Given the description of an element on the screen output the (x, y) to click on. 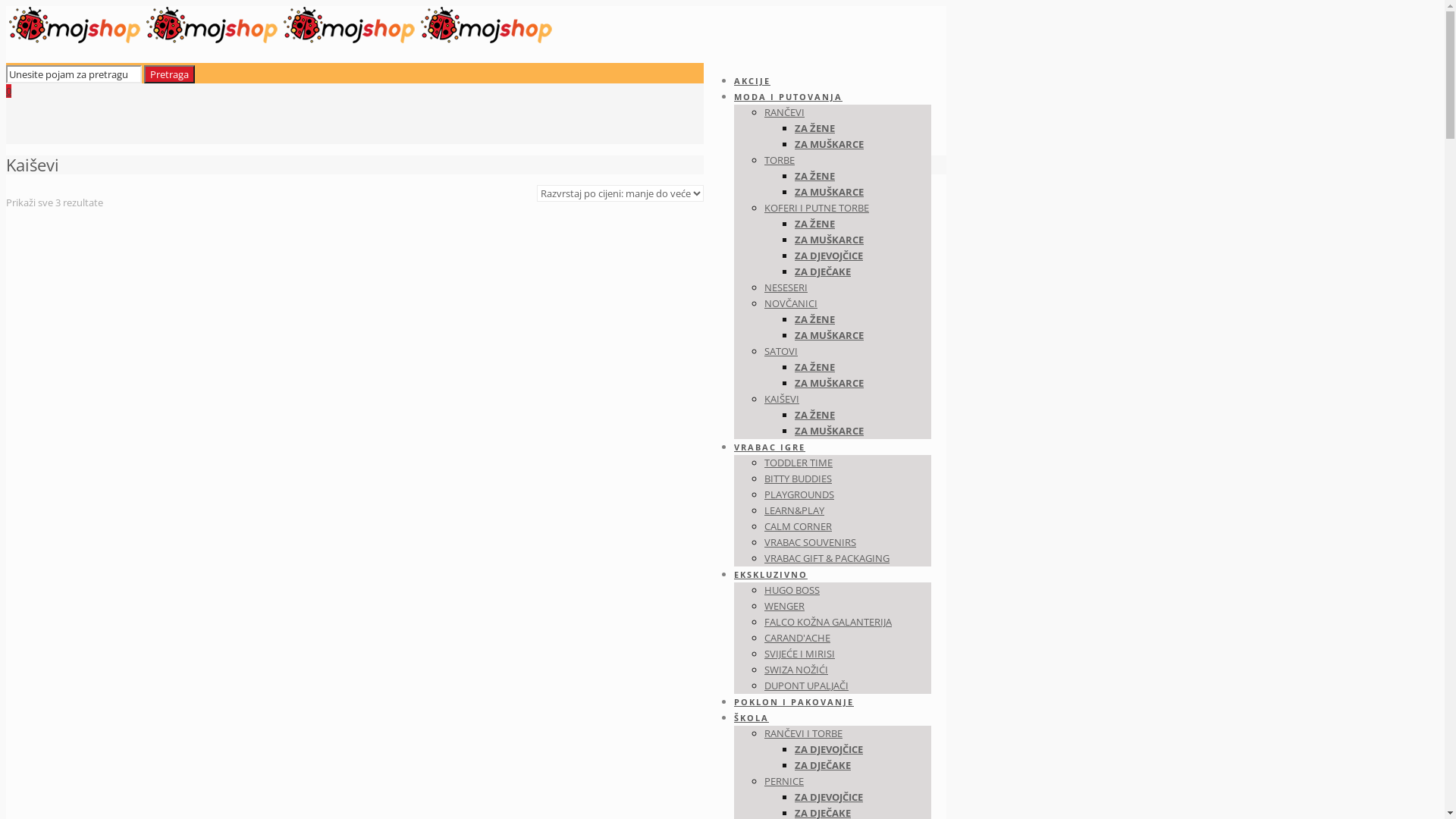
0 Element type: text (8, 90)
PERNICE Element type: text (783, 780)
VRABAC IGRE Element type: text (769, 446)
MODA I PUTOVANJA Element type: text (788, 96)
VRABAC GIFT & PACKAGING Element type: text (826, 557)
POKLON I PAKOVANJE Element type: text (793, 701)
TODDLER TIME Element type: text (798, 462)
SATOVI Element type: text (780, 350)
HUGO BOSS Element type: text (791, 589)
BITTY BUDDIES Element type: text (797, 478)
Mojshop Element type: hover (280, 39)
LEARN&PLAY Element type: text (794, 510)
VRABAC SOUVENIRS Element type: text (810, 542)
NESESERI Element type: text (785, 287)
CARAND'ACHE Element type: text (797, 637)
CALM CORNER Element type: text (797, 526)
AKCIJE Element type: text (752, 80)
WENGER Element type: text (784, 605)
Pretraga Element type: text (169, 74)
EKSKLUZIVNO Element type: text (770, 574)
TORBE Element type: text (779, 159)
KOFERI I PUTNE TORBE Element type: text (816, 207)
PLAYGROUNDS Element type: text (799, 494)
